Given the description of an element on the screen output the (x, y) to click on. 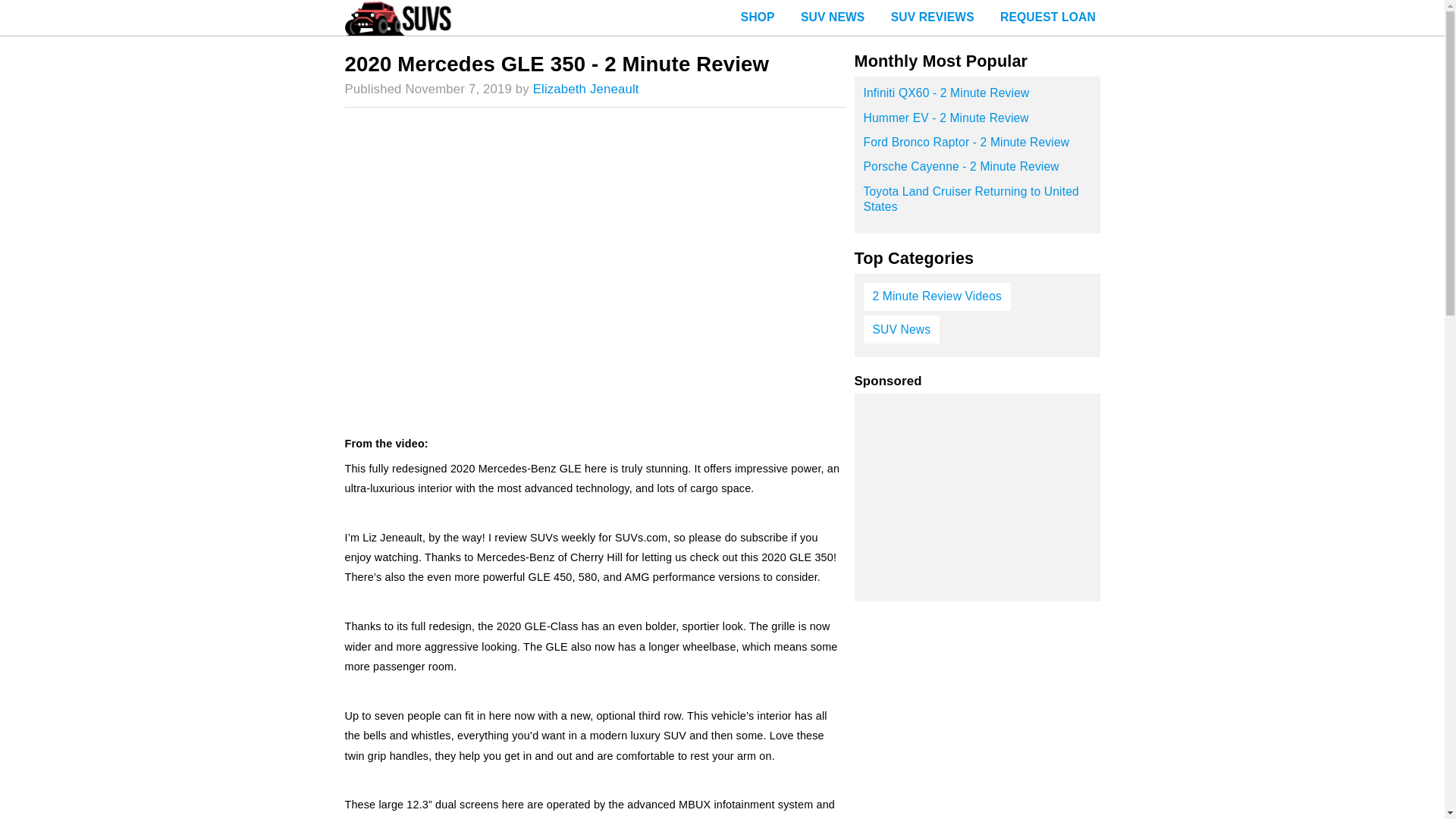
SUV News (901, 329)
Elizabeth Jeneault (585, 88)
2 Minute Review Videos (936, 296)
REQUEST LOAN (1047, 18)
SUV NEWS (832, 18)
Infiniti QX60 - 2 Minute Review (976, 97)
SUV REVIEWS (932, 18)
Ford Bronco Raptor - 2 Minute Review (976, 146)
SHOP (757, 18)
Toyota Land Cruiser Returning to United States (976, 204)
Porsche Cayenne - 2 Minute Review (976, 170)
Hummer EV - 2 Minute Review (976, 122)
